Given the description of an element on the screen output the (x, y) to click on. 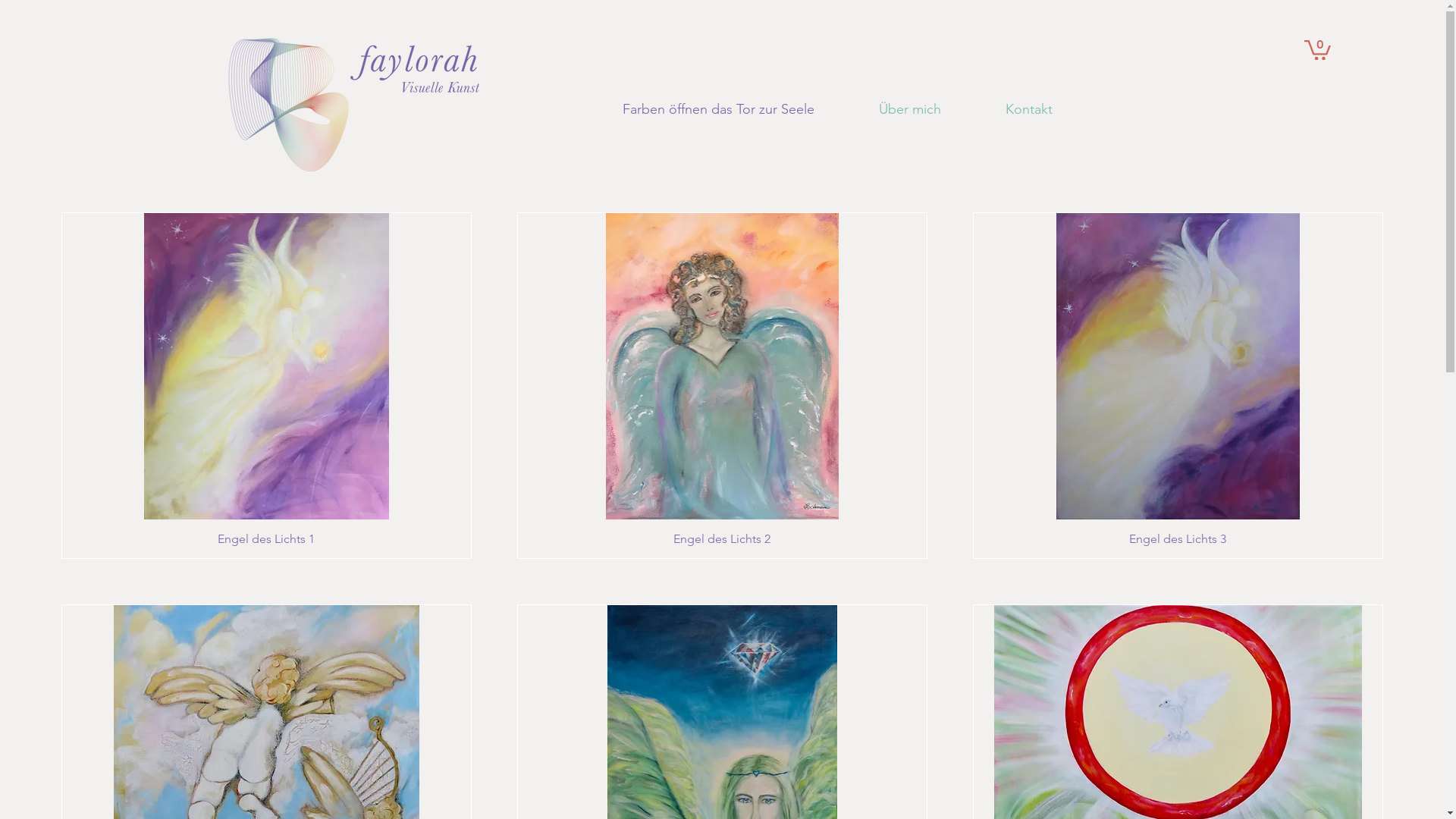
Kontakt Element type: text (1052, 109)
Engel des Lichts 1 Element type: text (266, 538)
Engel des Lichts 2 Element type: text (722, 538)
Engel des Lichts 3 Element type: text (1178, 538)
0 Element type: text (1317, 48)
